Given the description of an element on the screen output the (x, y) to click on. 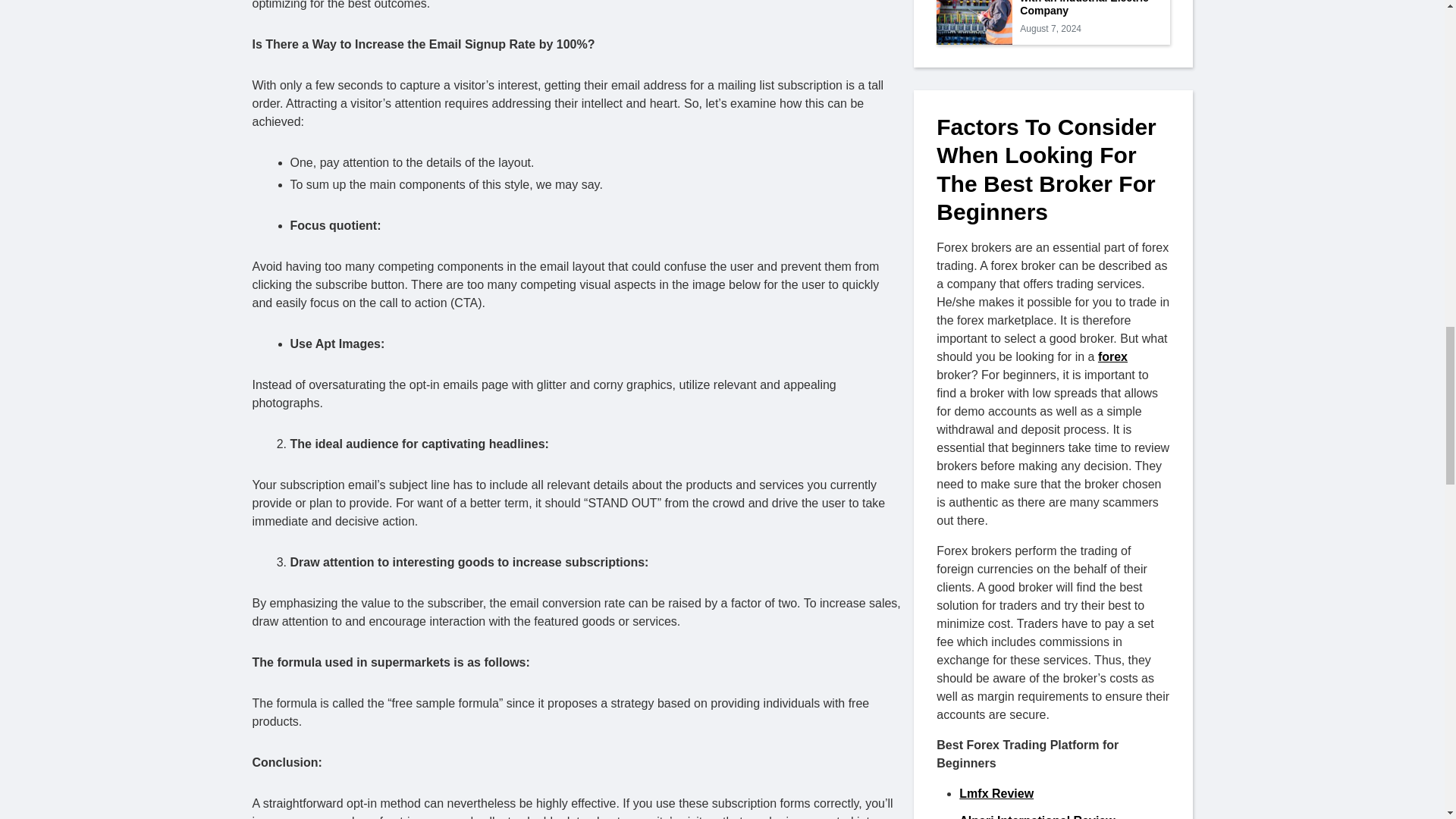
Della Creagh (628, 676)
BUSINESS (360, 560)
Della Creagh (318, 678)
Della Creagh (628, 676)
